Given the description of an element on the screen output the (x, y) to click on. 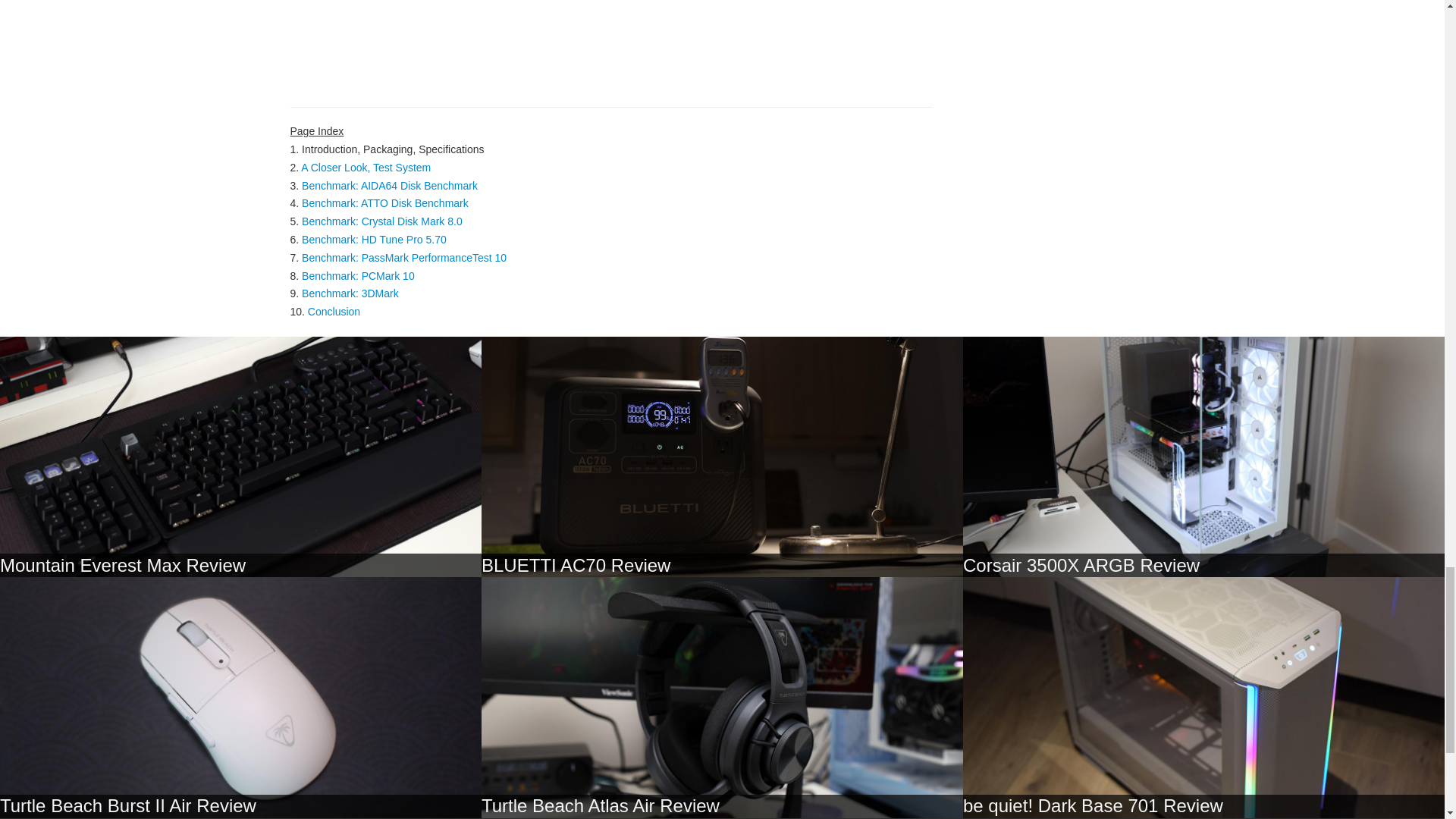
Conclusion (333, 311)
Benchmark: HD Tune Pro 5.70 (373, 239)
Benchmark: ATTO Disk Benchmark (384, 203)
Corsair 3500X ARGB Review (1080, 565)
Turtle Beach Atlas Air Review (600, 805)
Benchmark: 3DMark (349, 293)
Benchmark: Crystal Disk Mark 8.0 (382, 221)
be quiet! Dark Base 701 Review (1092, 805)
Turtle Beach Burst II Air Review (128, 805)
A Closer Look, Test System (365, 167)
